Given the description of an element on the screen output the (x, y) to click on. 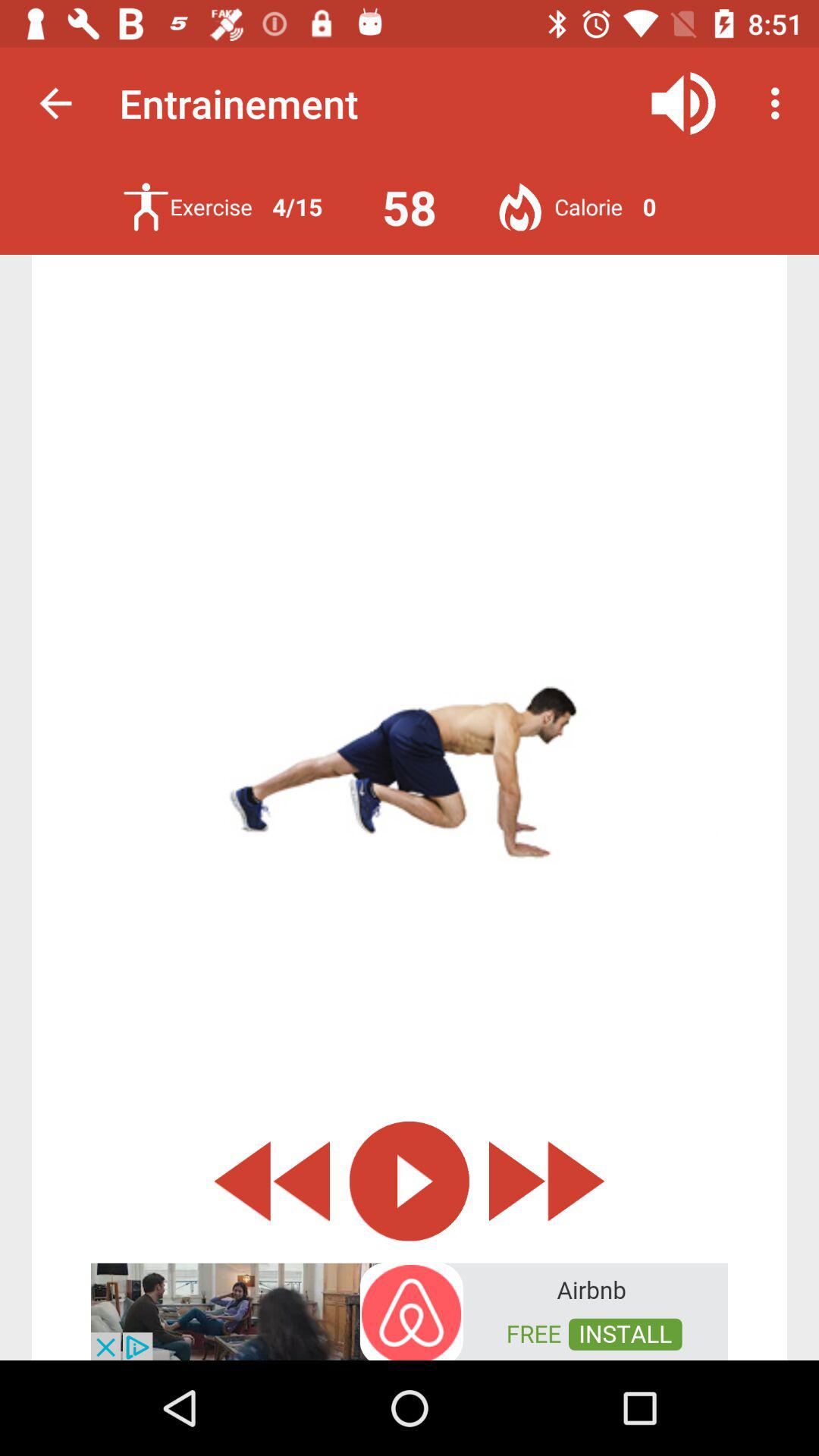
excercise icon option (146, 206)
